Given the description of an element on the screen output the (x, y) to click on. 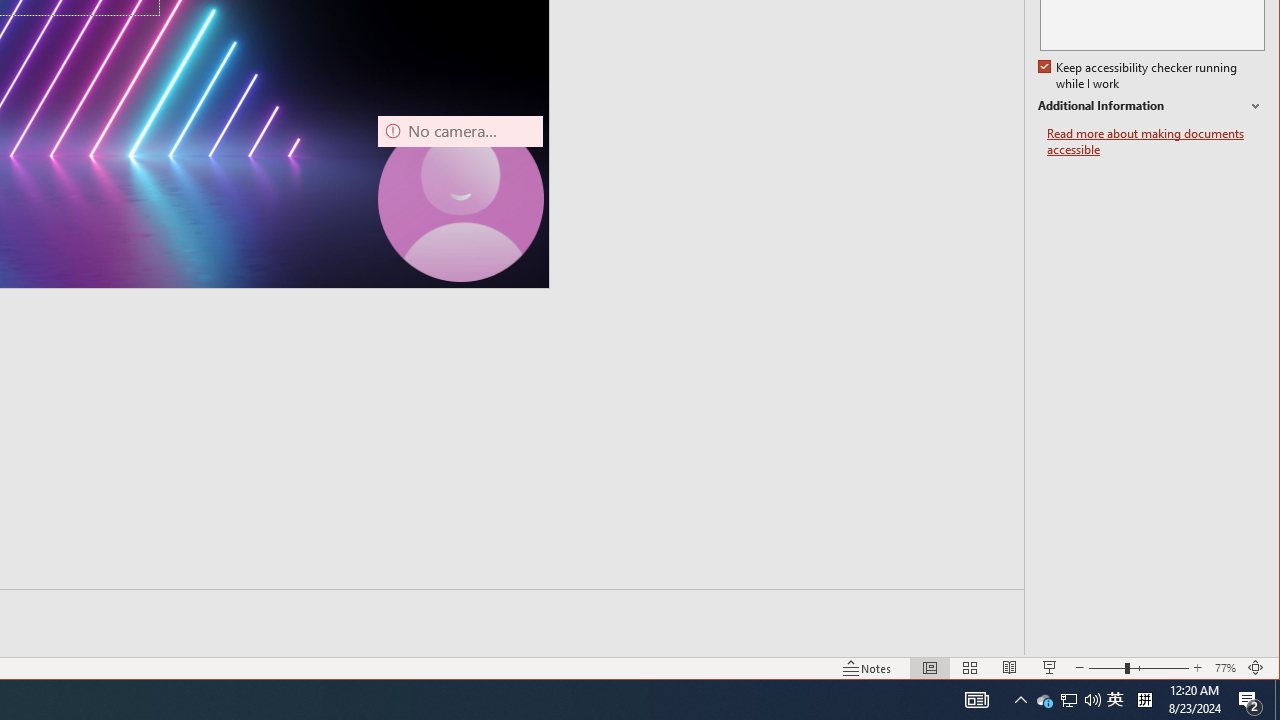
Keep accessibility checker running while I work (1139, 76)
Camera 7, No camera detected. (460, 197)
Read more about making documents accessible (1155, 142)
Zoom 77% (1225, 668)
Additional Information (1151, 106)
